Given the description of an element on the screen output the (x, y) to click on. 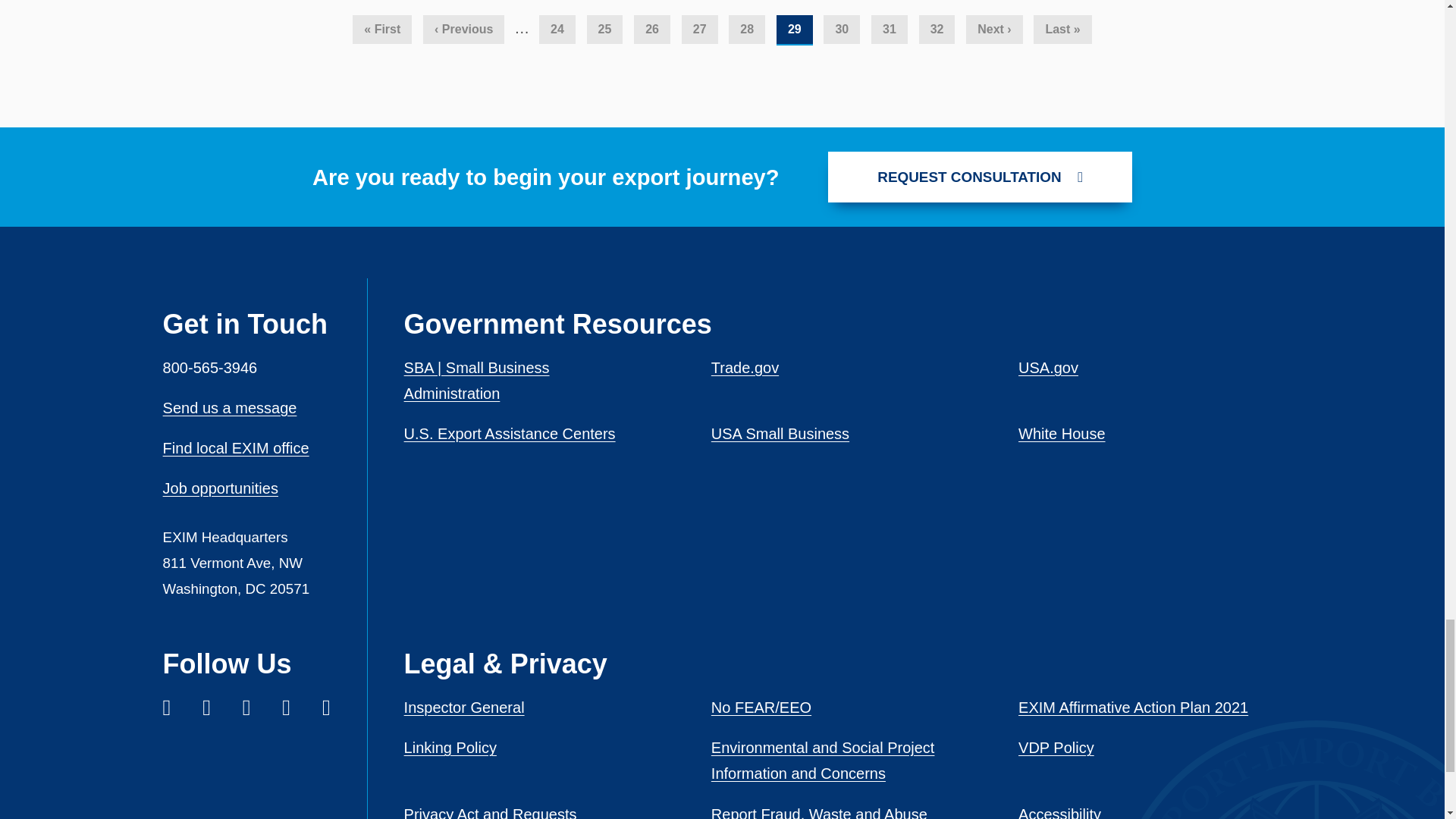
Go to next page (994, 29)
Current page (794, 30)
Go to last page (1061, 29)
Go to page 24 (556, 29)
Go to page 25 (604, 29)
Go to page 30 (842, 29)
Go to page 27 (699, 29)
Go to page 26 (651, 29)
Go to page 28 (747, 29)
Go to first page (382, 29)
